Given the description of an element on the screen output the (x, y) to click on. 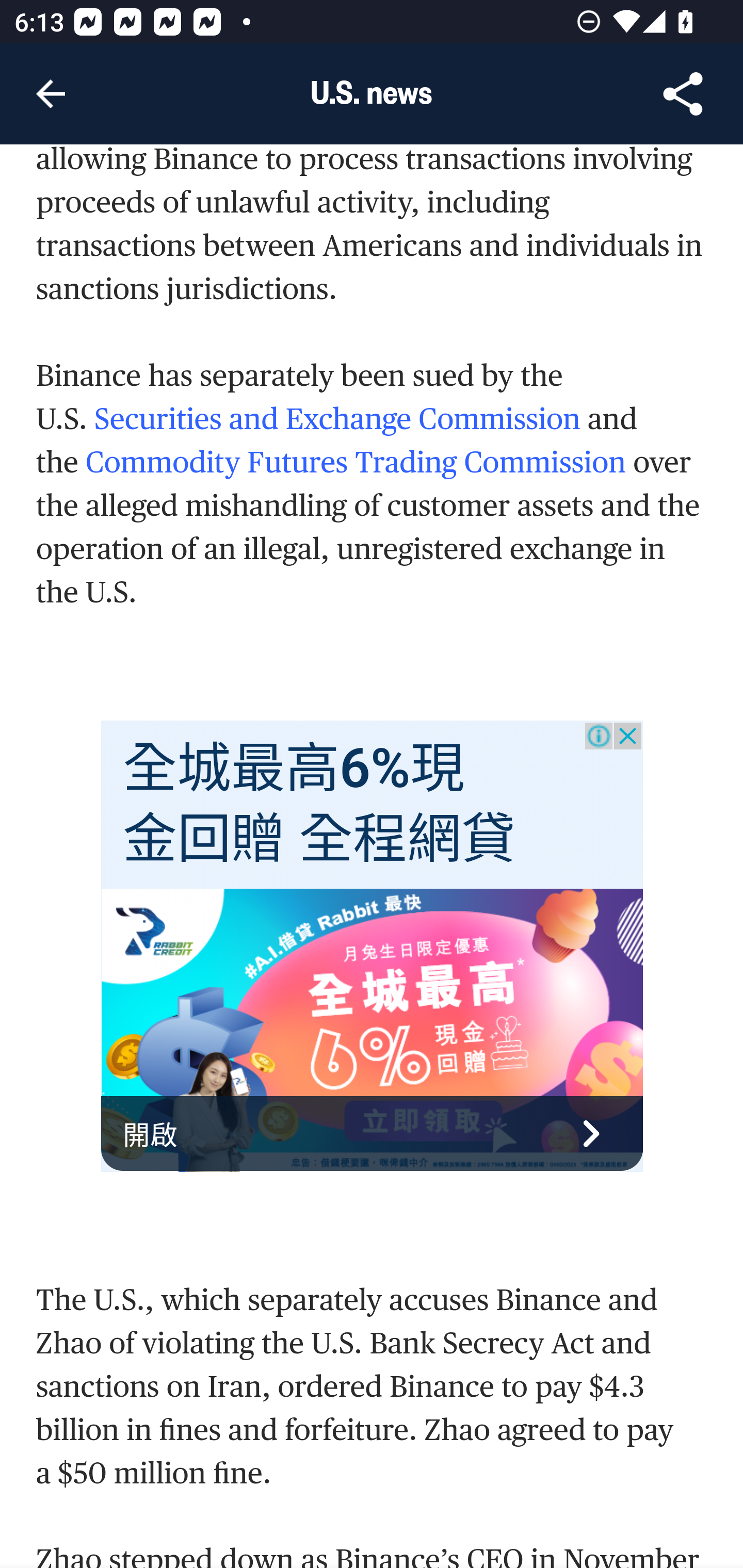
Navigate up (50, 93)
Share Article, button (683, 94)
Securities and Exchange Commission (337, 419)
Commodity Futures Trading Commission (355, 461)
全城最高6%現 金回贈 全程網貸 全城最高6%現 金回贈 全程網貸 (319, 803)
開啟 (372, 1133)
